Given the description of an element on the screen output the (x, y) to click on. 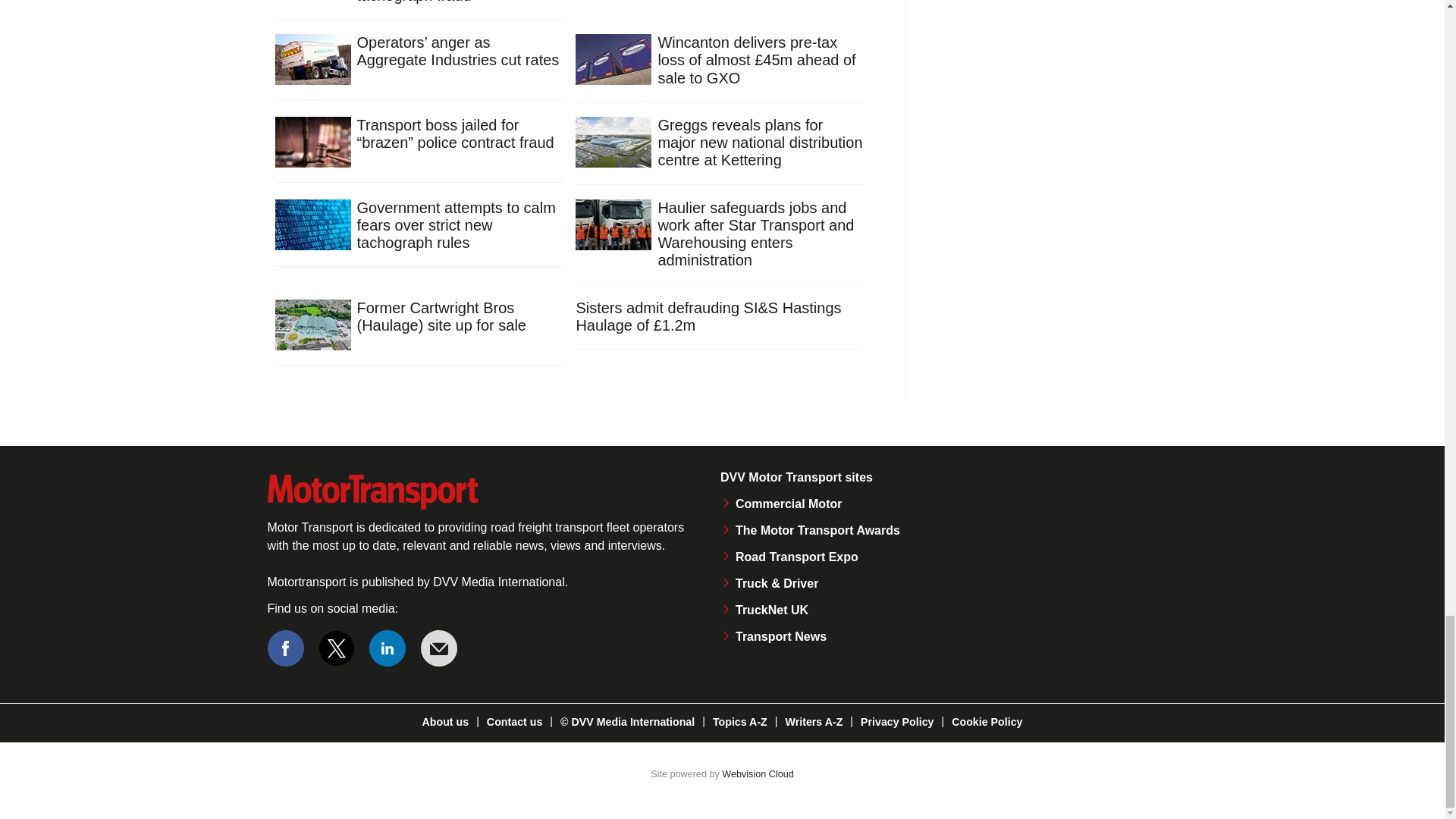
Connect with us on Linked in (387, 647)
Email us (438, 647)
Connect with us on Facebook (284, 647)
Connect with us on Twitter (336, 647)
